Given the description of an element on the screen output the (x, y) to click on. 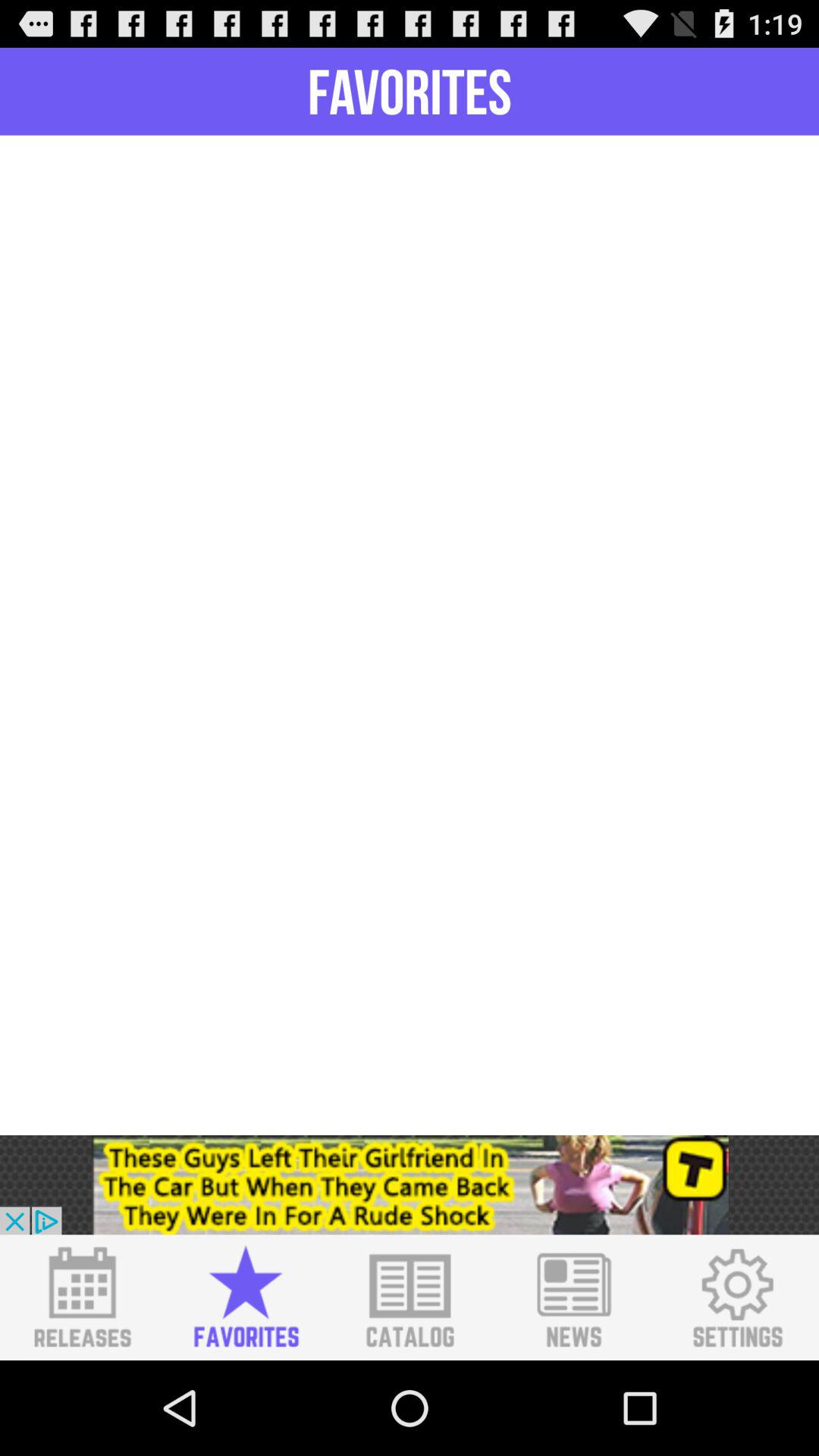
click advertisements (409, 1184)
